Given the description of an element on the screen output the (x, y) to click on. 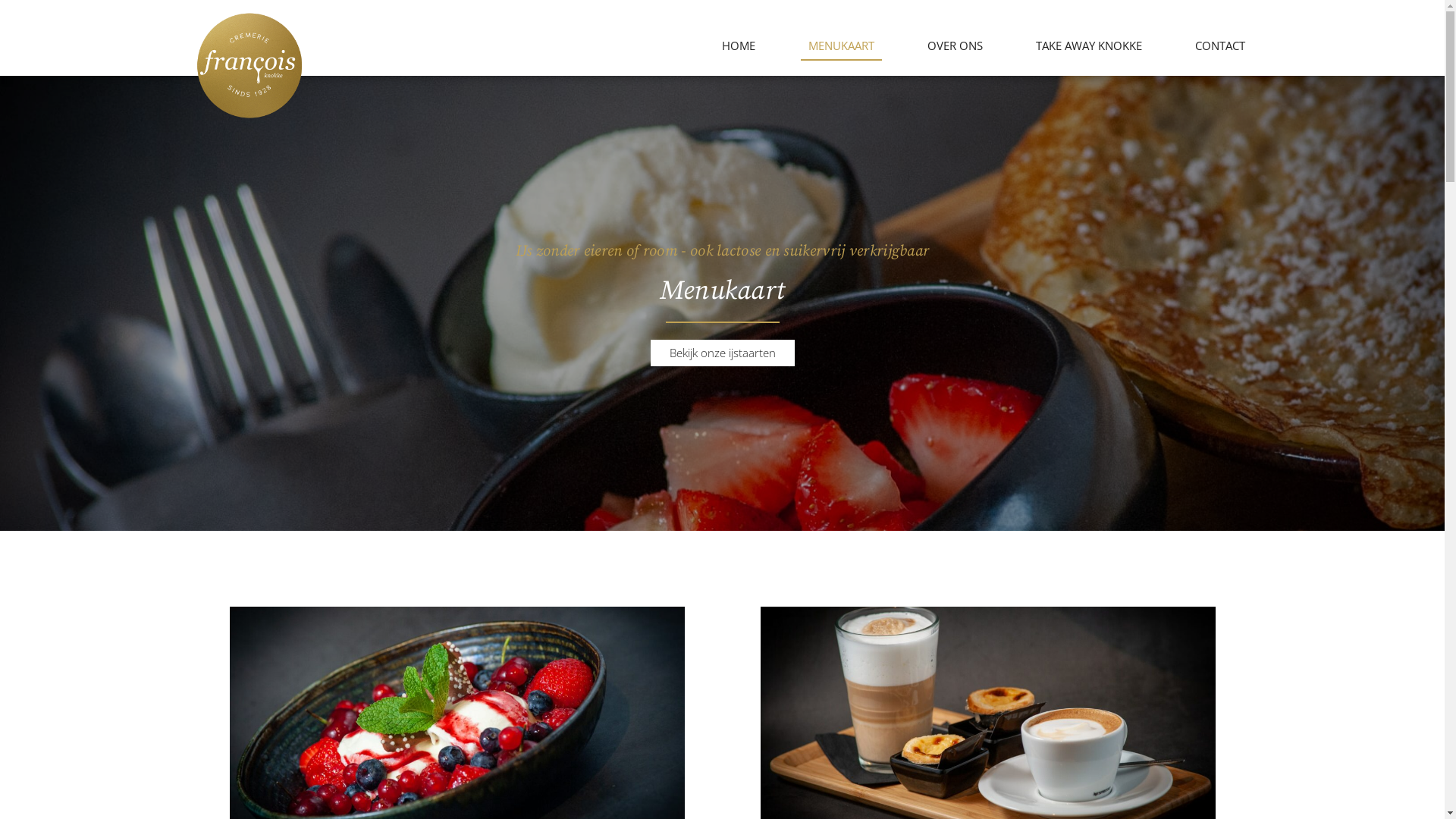
MENUKAART Element type: text (840, 45)
OVER ONS Element type: text (954, 45)
CONTACT Element type: text (1219, 45)
TAKE AWAY KNOKKE Element type: text (1088, 45)
HOME Element type: text (738, 45)
Bekijk onze ijstaarten Element type: text (722, 352)
